Given the description of an element on the screen output the (x, y) to click on. 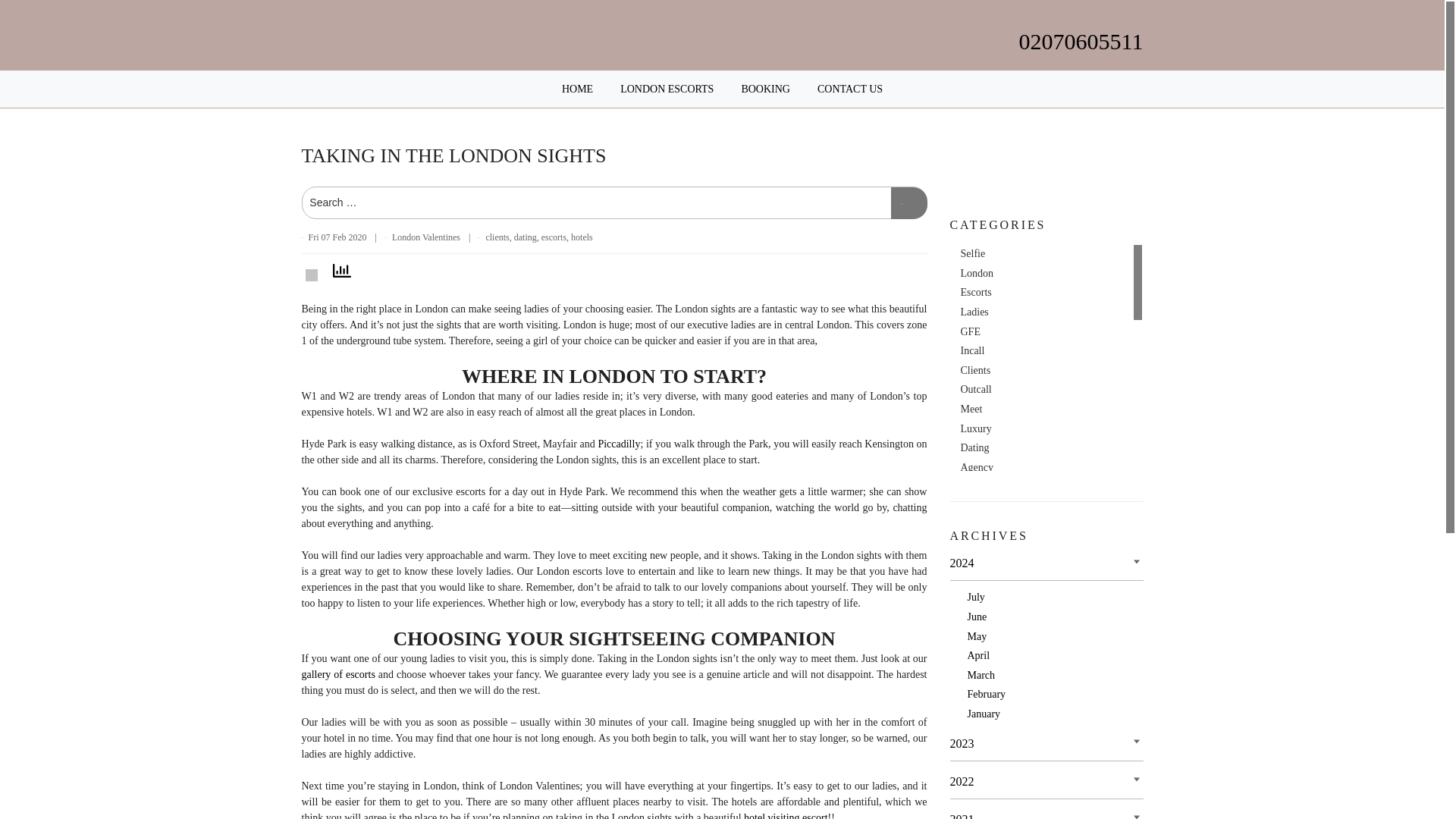
dating (525, 236)
gallery of escorts (338, 674)
hotels (581, 236)
clients (496, 236)
CONTACT US (849, 89)
hotel visiting escort (785, 815)
HOME (577, 89)
LONDON ESCORTS (666, 89)
Search (907, 203)
escorts (553, 236)
